Given the description of an element on the screen output the (x, y) to click on. 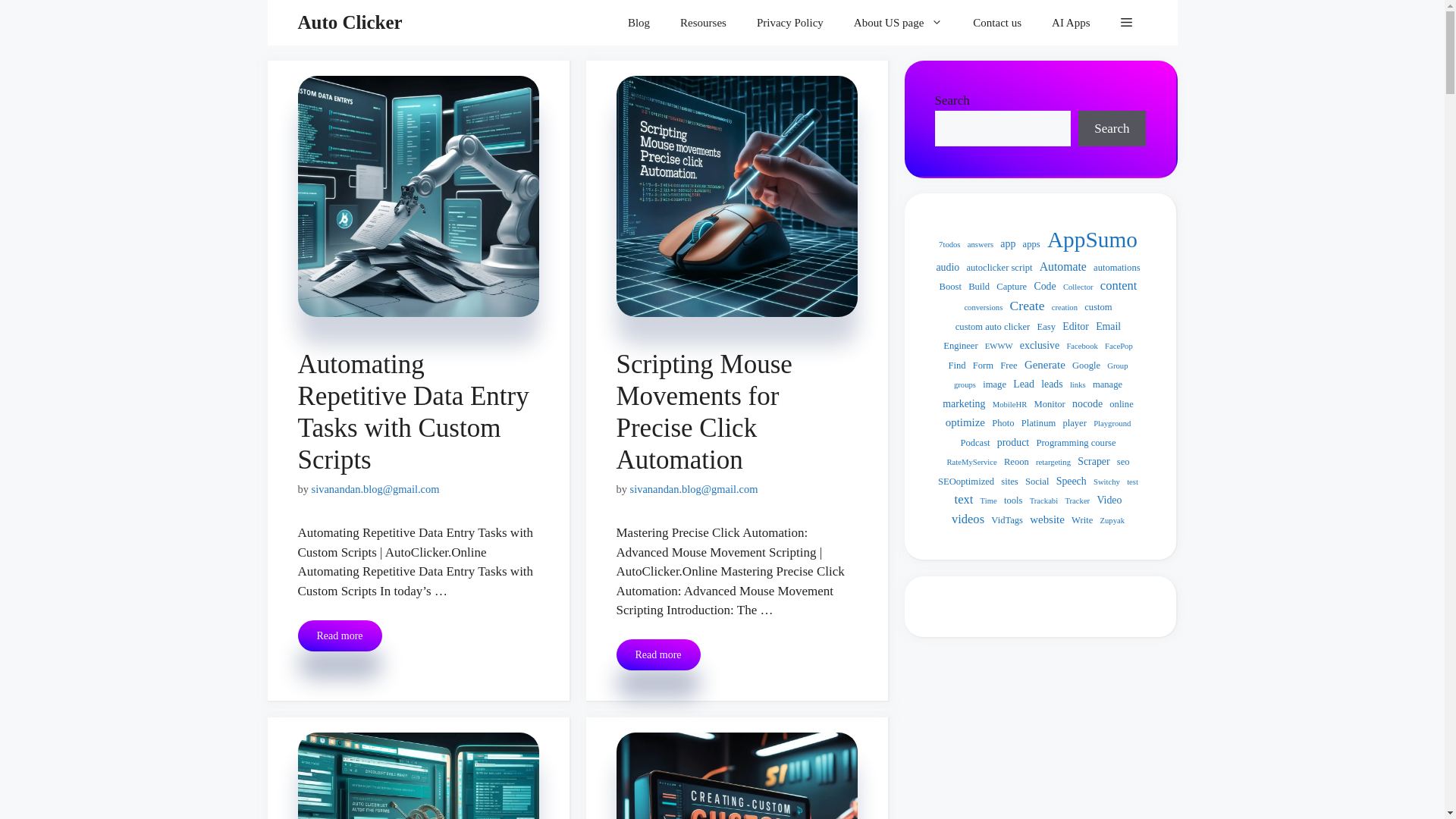
Scripting Mouse Movements for Precise Click Automation 2 (736, 196)
Automating Repetitive Data Entry Tasks with Custom Scripts 1 (417, 196)
Auto Clicker (349, 22)
Automating Repetitive Data Entry Tasks with Custom Scripts (412, 411)
About US page (898, 22)
Resourses (703, 22)
Blog (638, 22)
Contact us (997, 22)
Scripting Mouse Movements for Precise Click Automation (703, 411)
Scripting Mouse Movements for Precise Click Automation (657, 654)
